Given the description of an element on the screen output the (x, y) to click on. 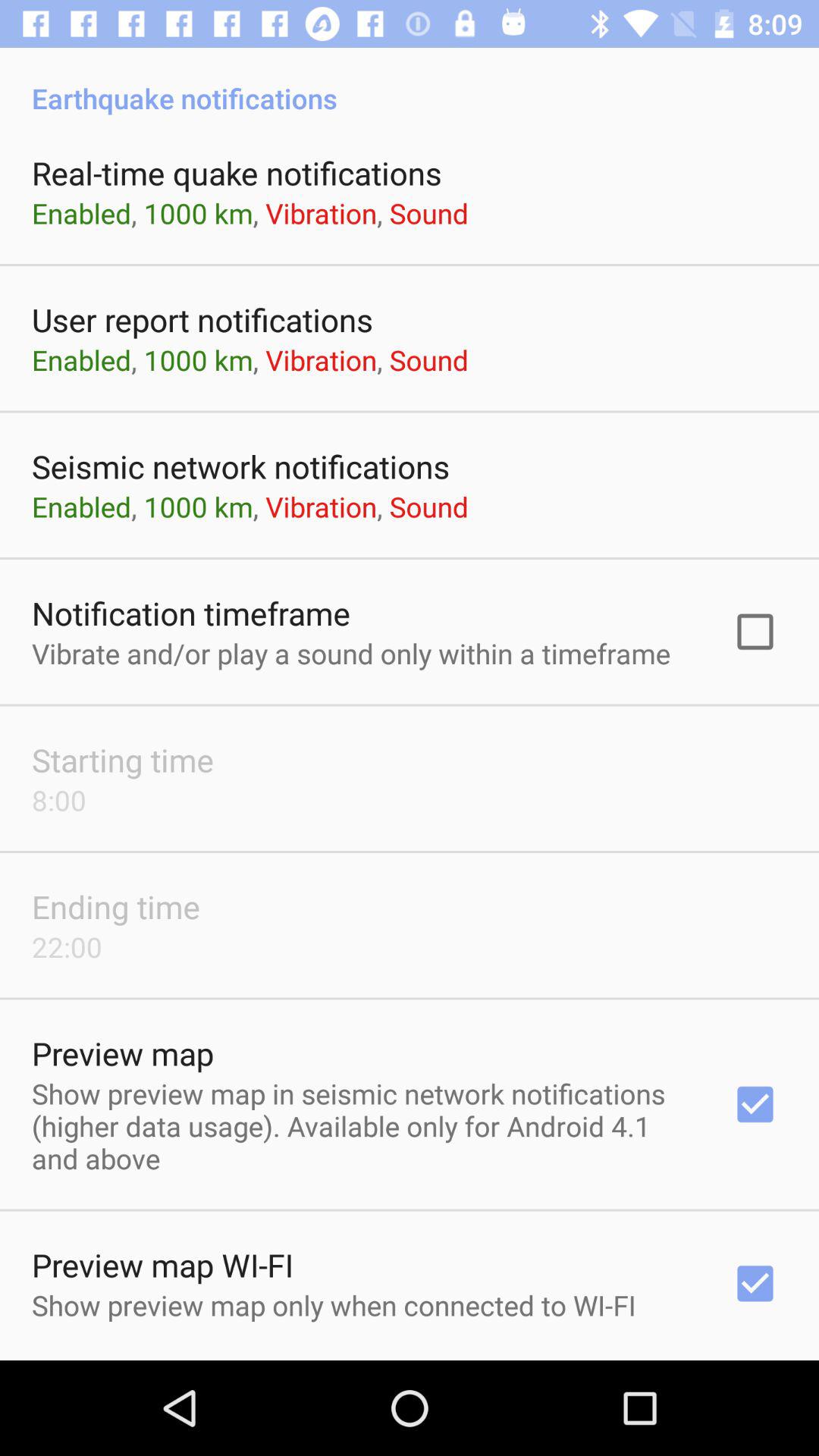
press app above 8:00 item (122, 759)
